Given the description of an element on the screen output the (x, y) to click on. 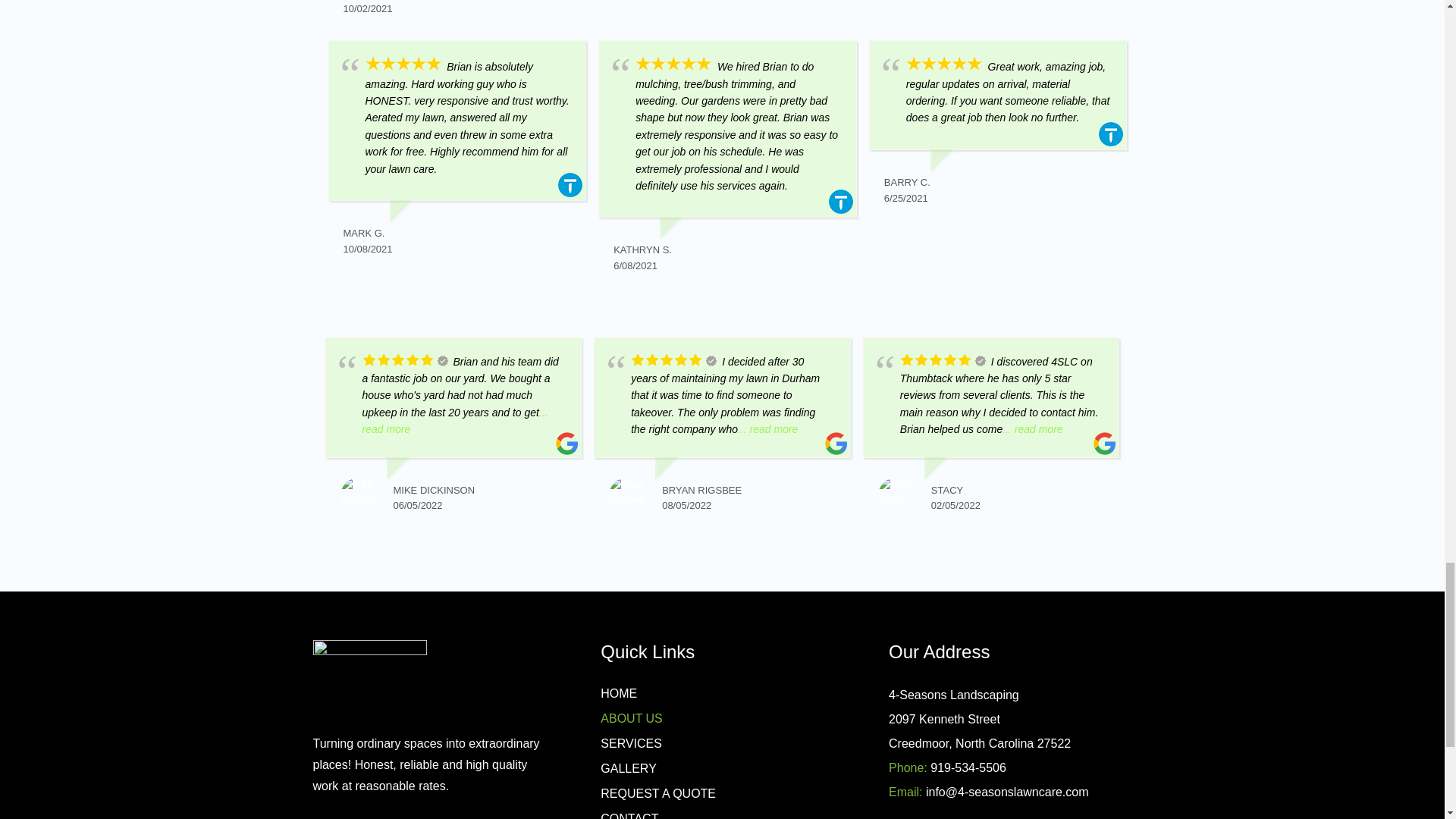
... read more (455, 420)
REQUEST A QUOTE (657, 793)
CONTACT (628, 815)
HOME (618, 693)
... read more (1032, 428)
SERVICES (630, 743)
... read more (767, 428)
ABOUT US (630, 717)
GALLERY (627, 768)
